Given the description of an element on the screen output the (x, y) to click on. 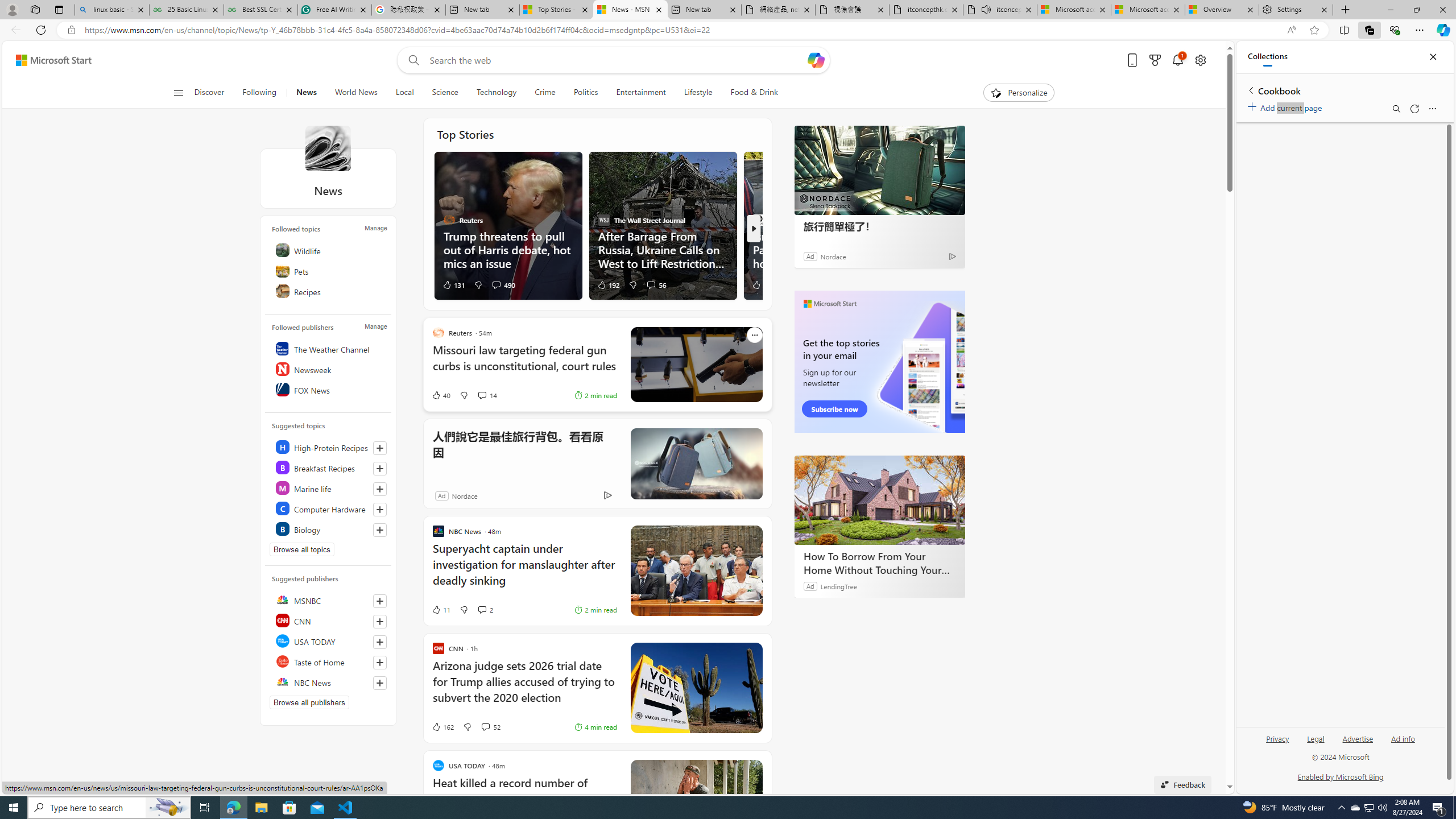
Class: highlight (328, 529)
Mute tab (985, 8)
News - MSN (630, 9)
40 Like (440, 395)
